Given the description of an element on the screen output the (x, y) to click on. 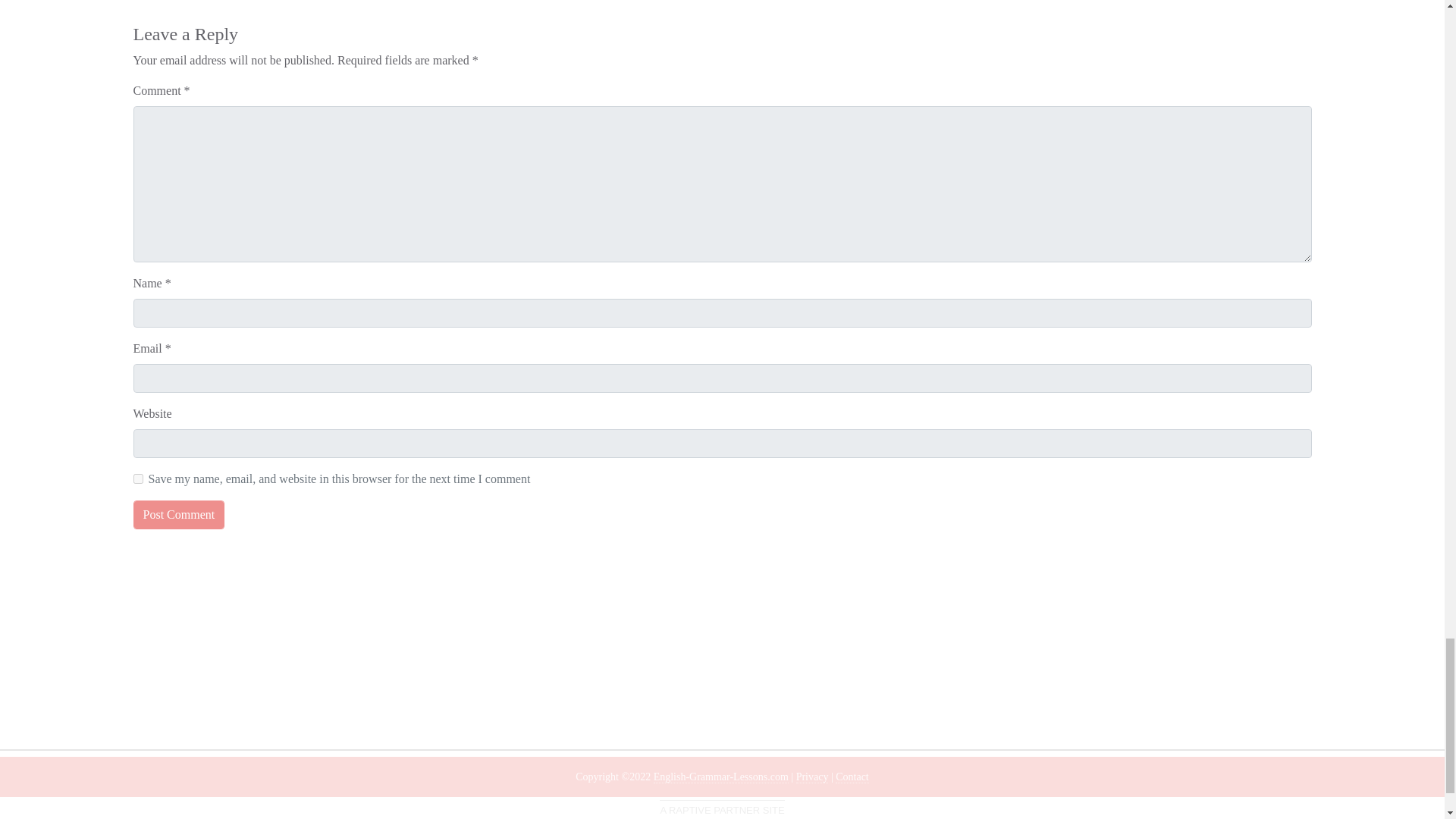
yes (137, 479)
Post Comment (179, 514)
Post Comment (179, 514)
Contact (852, 776)
English-Grammar-Lessons.com (721, 776)
Privacy (812, 776)
